Given the description of an element on the screen output the (x, y) to click on. 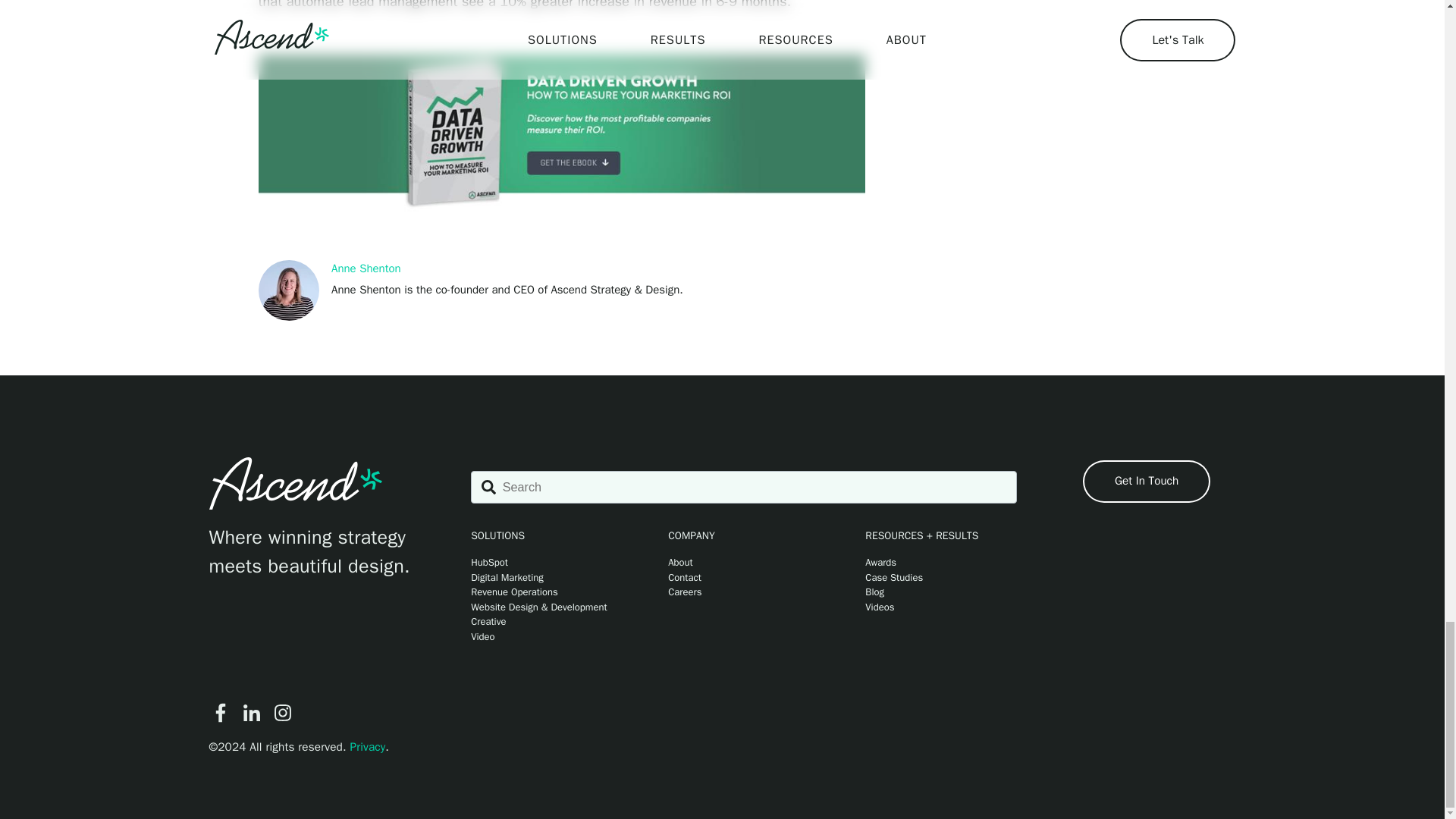
Awards (940, 562)
HubSpot (546, 562)
Revenue Operations (546, 591)
Contact (743, 577)
Anne Shenton (366, 269)
Creative (546, 621)
COMPANY (743, 535)
Video (546, 636)
About (743, 562)
Ascend (295, 483)
